Given the description of an element on the screen output the (x, y) to click on. 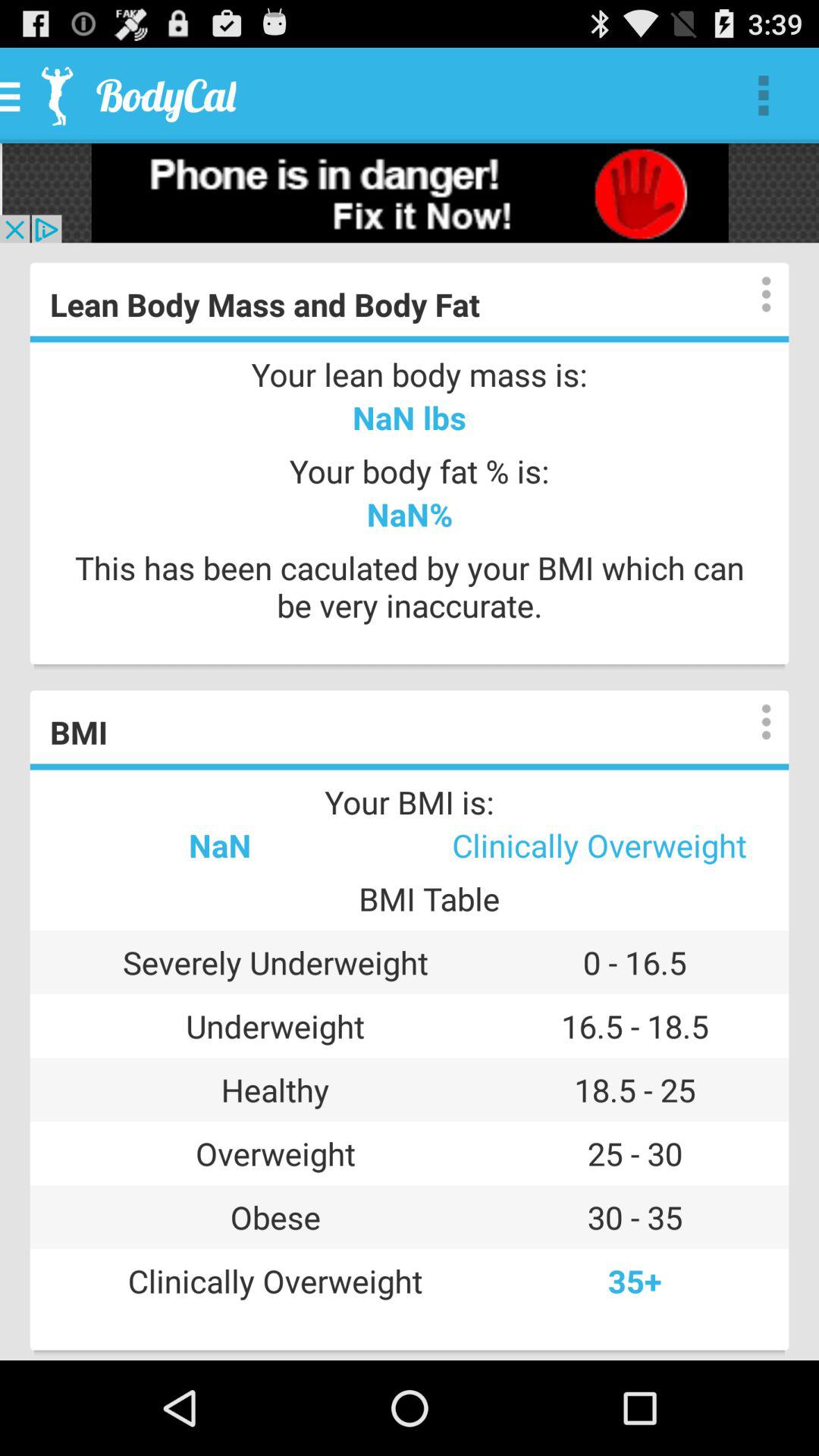
banner advertisement (409, 192)
